Given the description of an element on the screen output the (x, y) to click on. 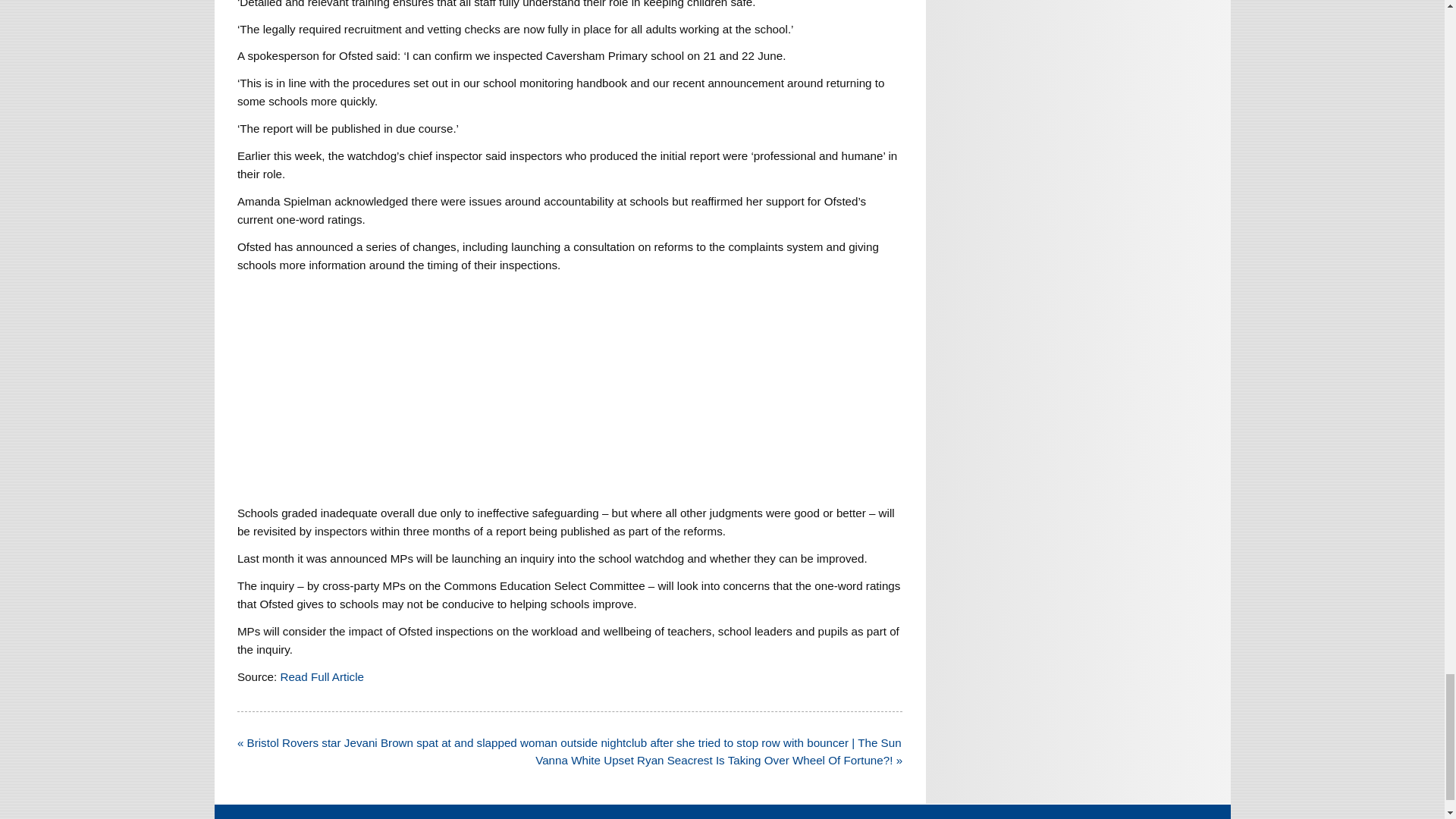
Read Full Article (321, 676)
